Given the description of an element on the screen output the (x, y) to click on. 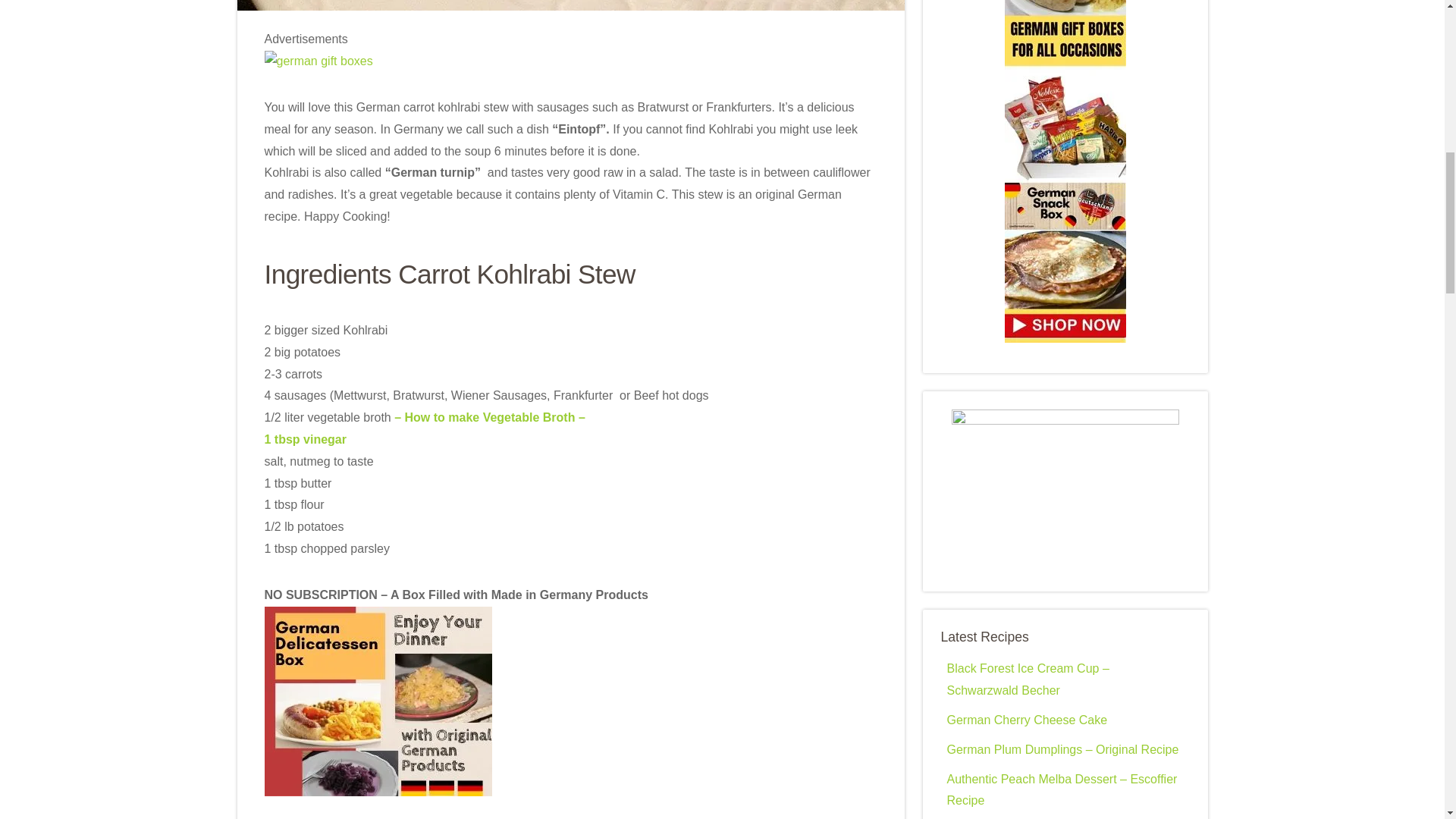
1 tbsp vinegar (304, 439)
